Given the description of an element on the screen output the (x, y) to click on. 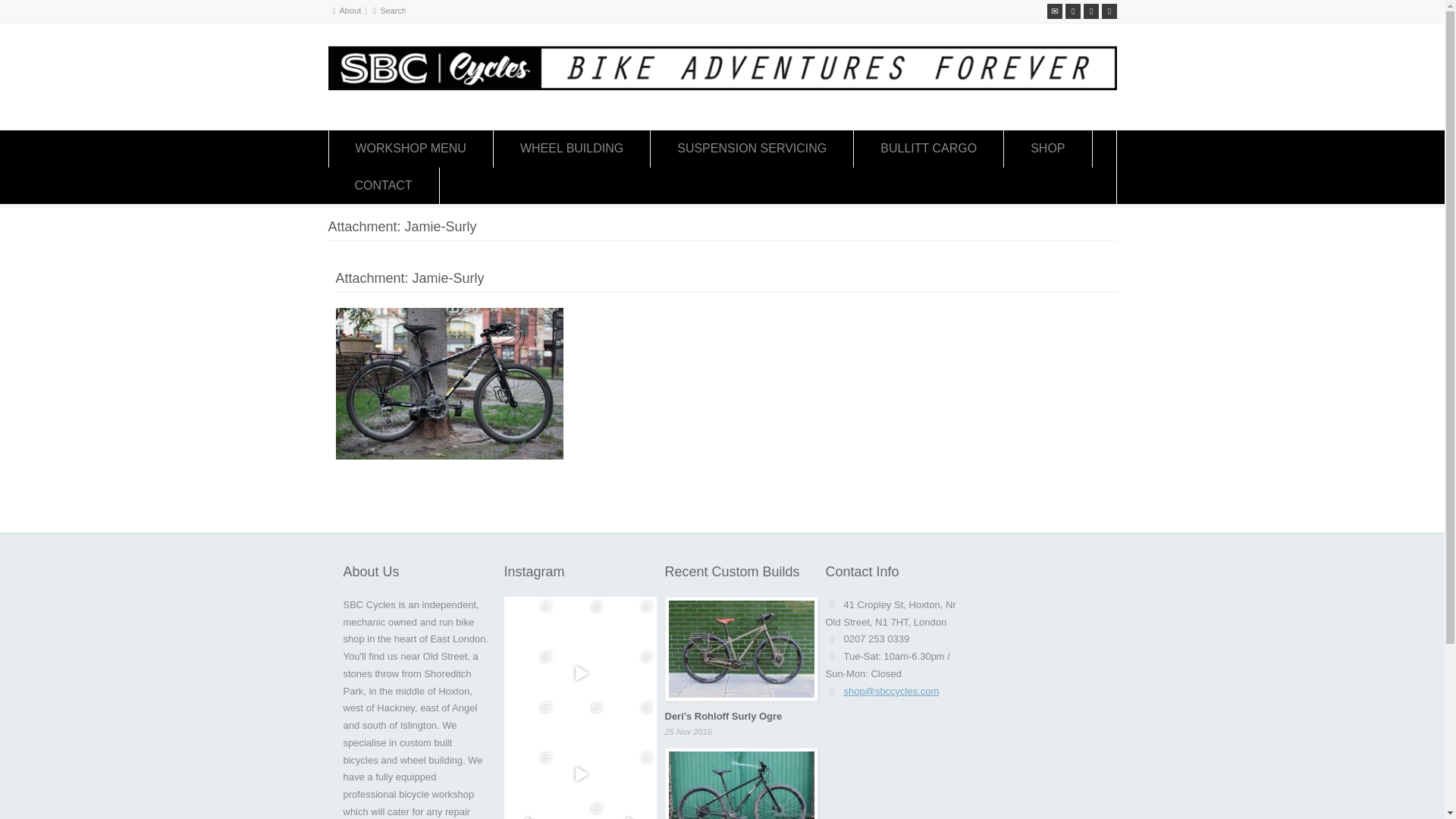
Instagram (1108, 11)
Spotify (1090, 11)
Search (393, 10)
Email (1053, 11)
WORKSHOP MENU (411, 148)
WHEEL BUILDING (571, 148)
Search (393, 10)
Facebook (1072, 11)
CONTACT (382, 185)
BULLITT CARGO (928, 148)
About (350, 10)
SHOP (1047, 148)
SBC Cycles (721, 86)
SUSPENSION SERVICING (751, 148)
